Given the description of an element on the screen output the (x, y) to click on. 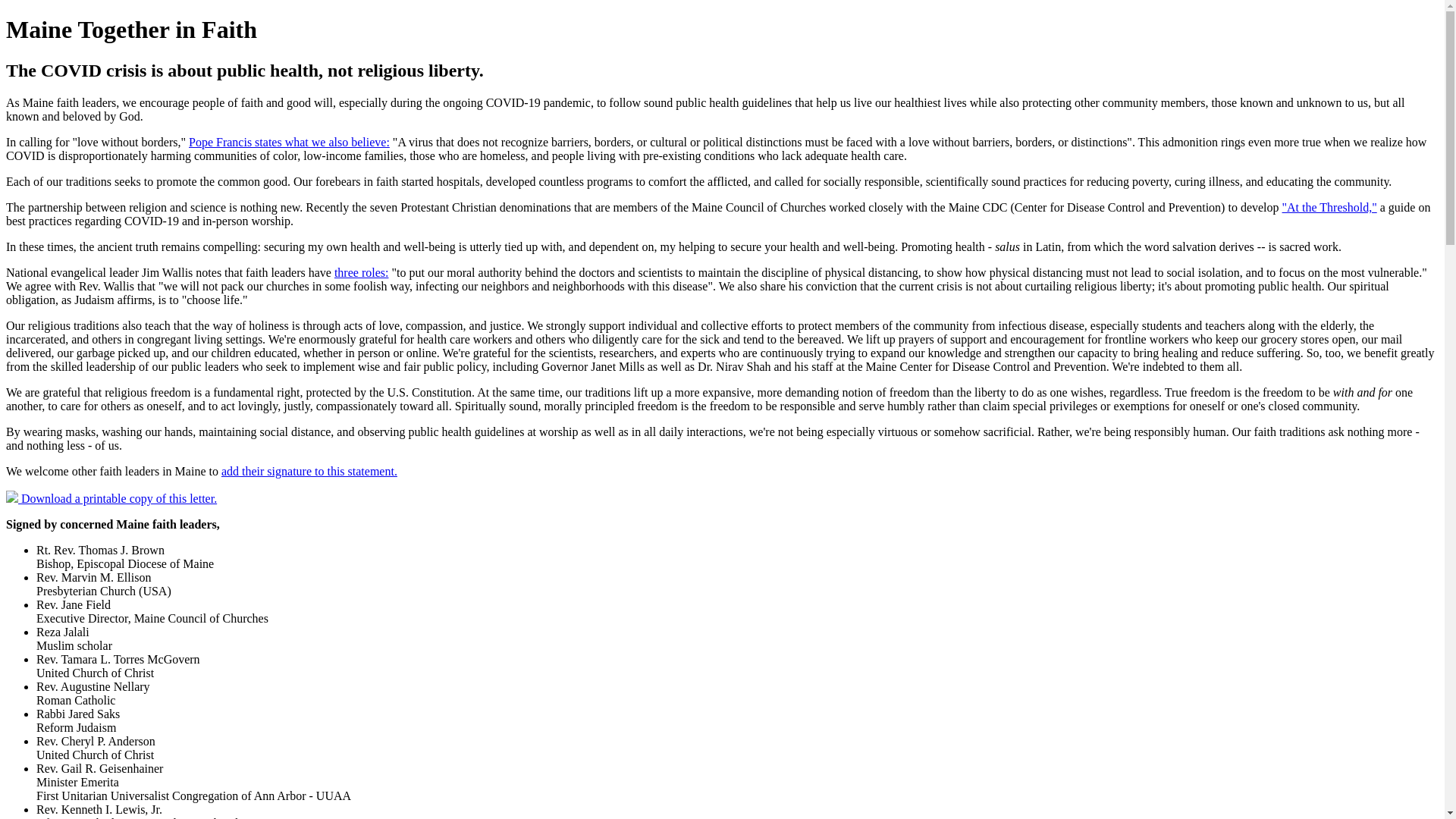
add their signature to this statement. (309, 471)
"At the Threshold," (1329, 206)
three roles: (361, 272)
Download a printable copy of this letter. (118, 498)
Pope Francis states what we also believe: (289, 141)
